Given the description of an element on the screen output the (x, y) to click on. 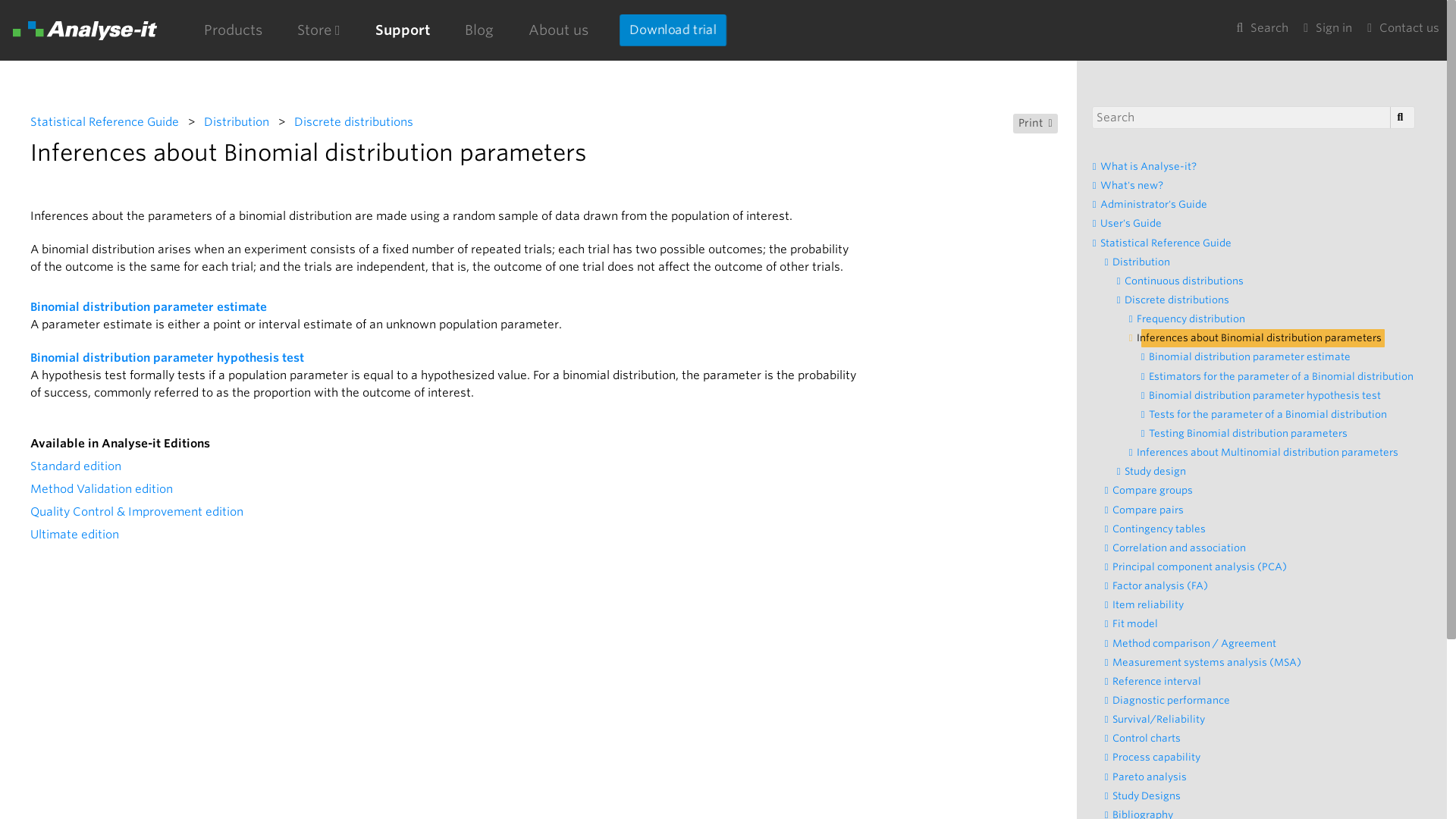
 Inferences about Binomial distribution parameters (1263, 338)
 User's Guide (1135, 223)
Print   (1035, 123)
 Distribution (1144, 262)
 What is Analyse-it? (1152, 167)
Standard edition (75, 466)
 Estimators for the parameter of a Binomial distribution (1284, 376)
Distribution (236, 122)
Ultimate edition (73, 534)
search (1400, 117)
